Given the description of an element on the screen output the (x, y) to click on. 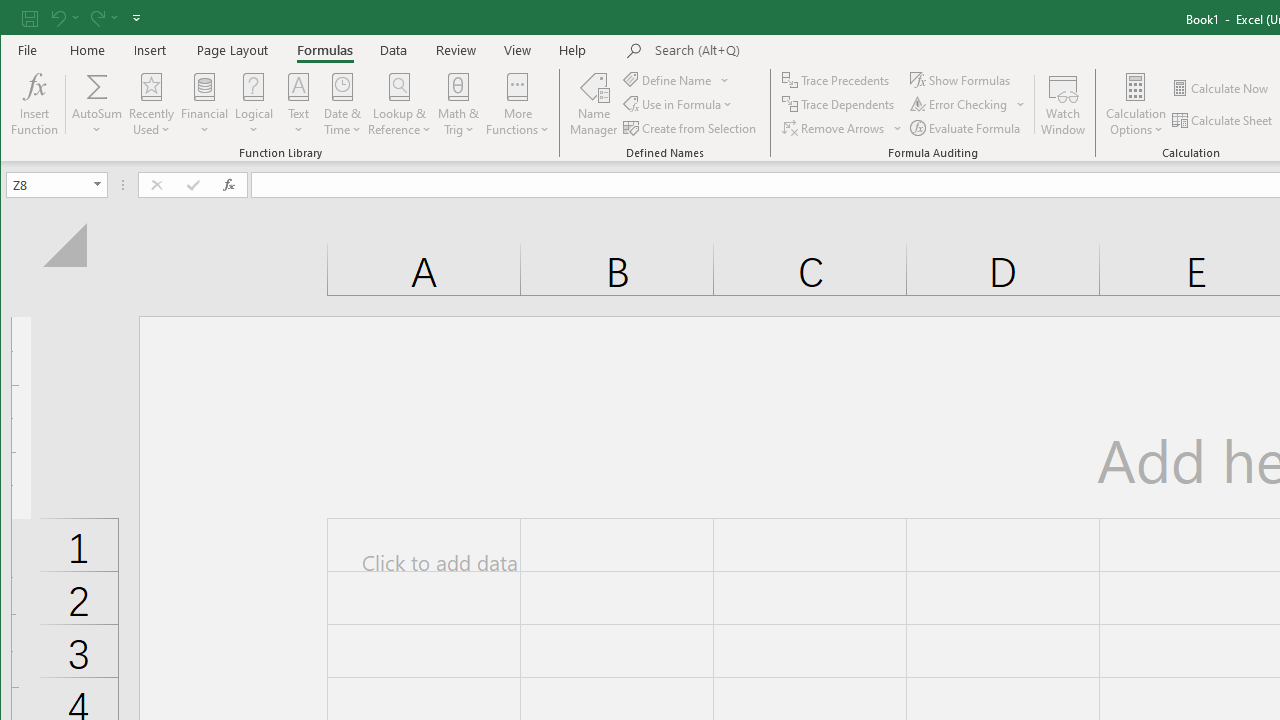
Show Formulas (962, 80)
Calculate Now (1221, 88)
Trace Precedents (837, 80)
Name Manager (593, 104)
AutoSum (97, 104)
Trace Dependents (840, 103)
Define Name... (668, 80)
Lookup & Reference (399, 104)
Date & Time (342, 104)
